Given the description of an element on the screen output the (x, y) to click on. 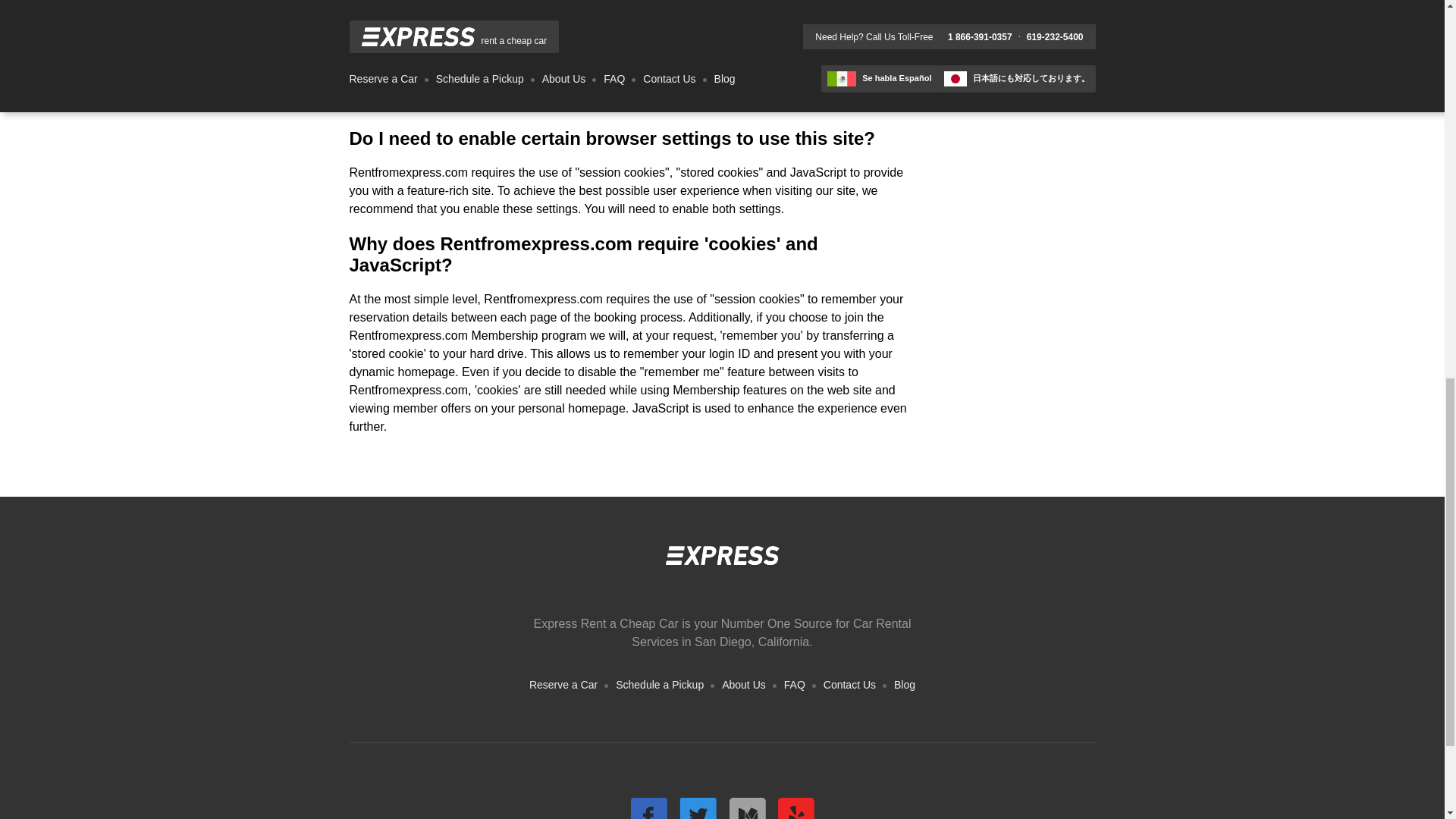
FAQ (794, 684)
Reserve a Car (562, 684)
Contact Us (850, 684)
Facebook (648, 808)
Yelp (795, 808)
Twitter (697, 808)
Schedule a Pickup (659, 684)
About Us (743, 684)
Medium (746, 808)
Blog (904, 684)
